Given the description of an element on the screen output the (x, y) to click on. 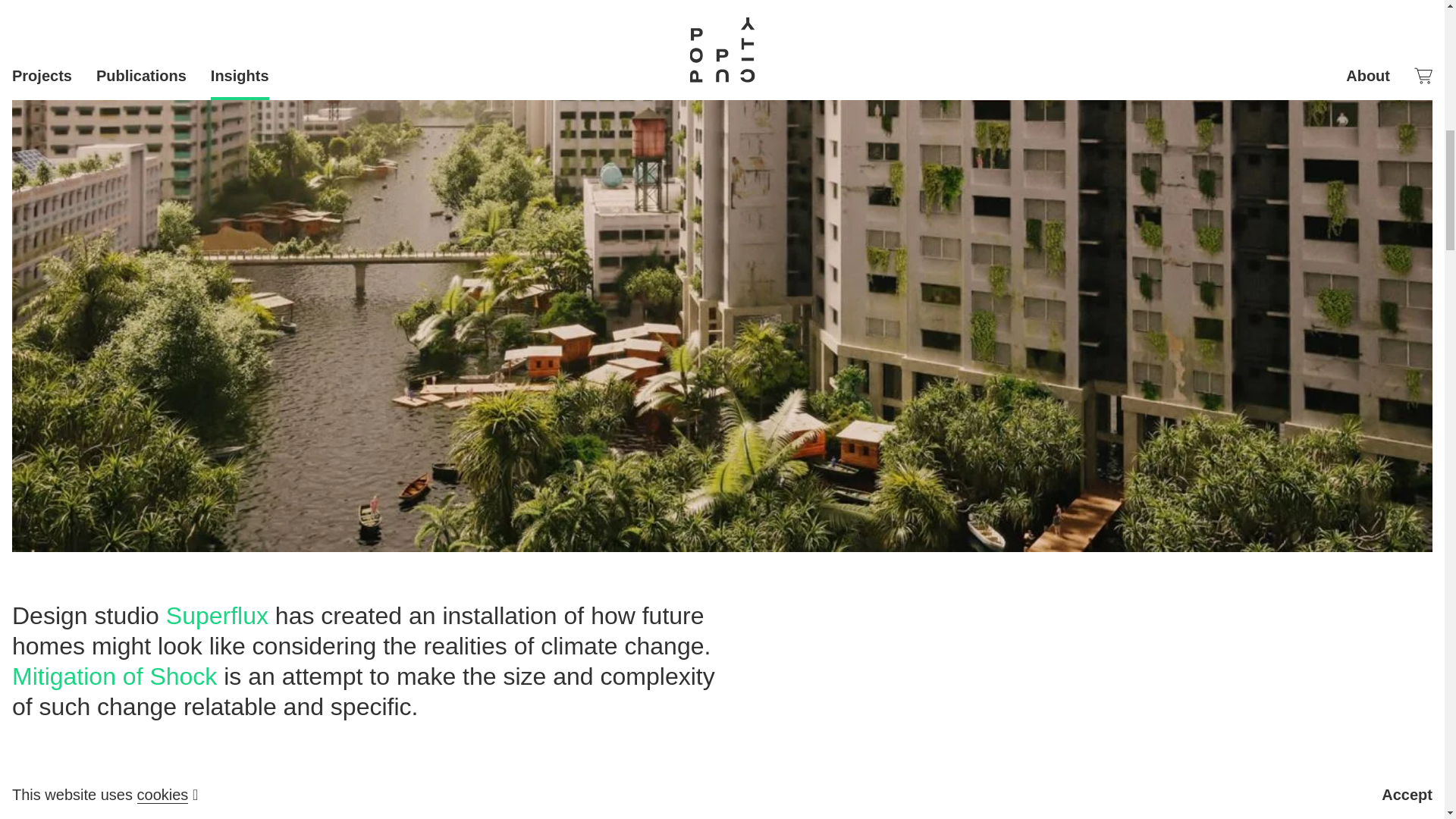
Mitigation of Shock (113, 676)
Superflux (216, 615)
